Given the description of an element on the screen output the (x, y) to click on. 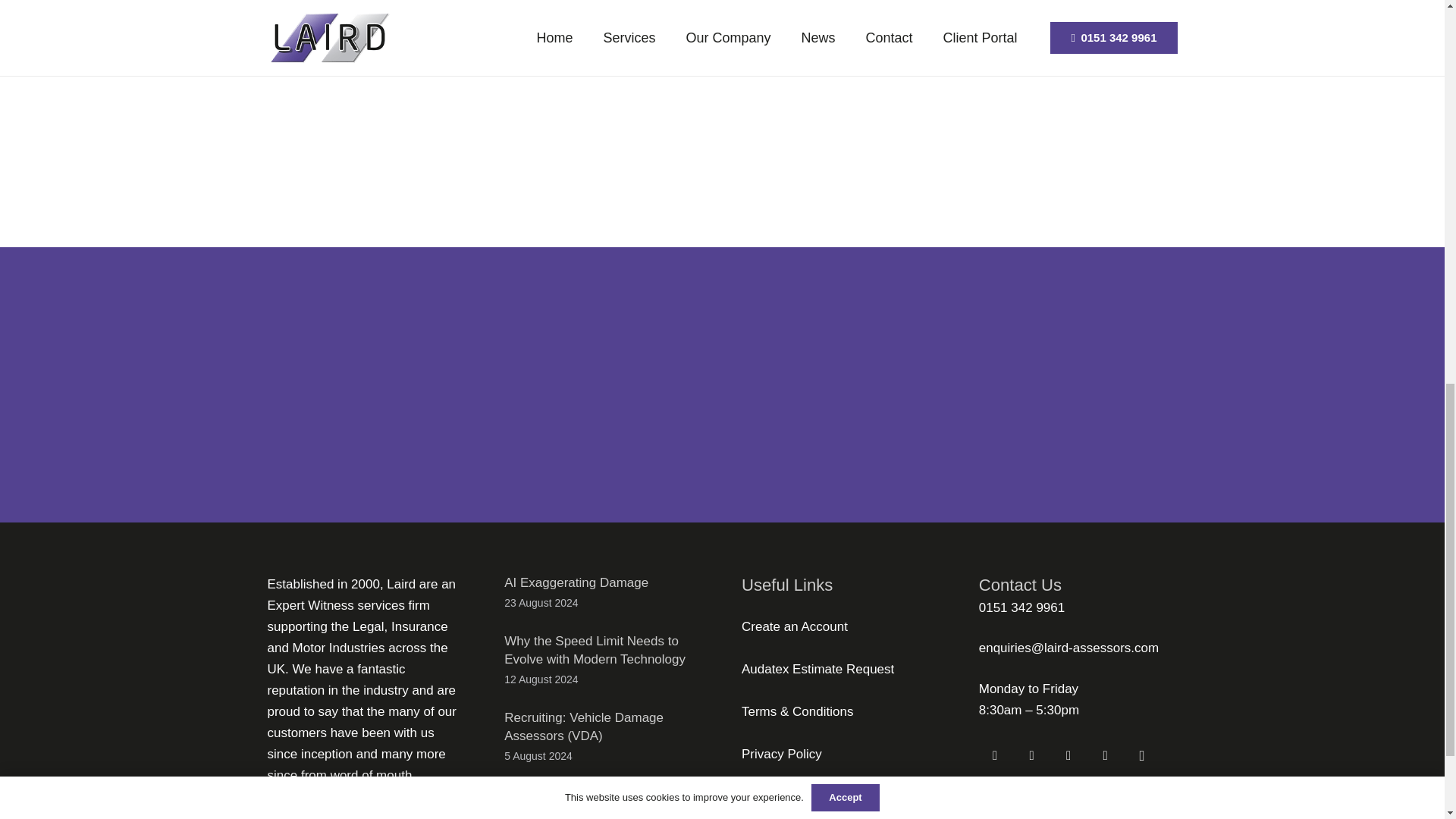
Instagram (1141, 756)
Twitter (1031, 756)
Facebook (994, 756)
LinkedIn (1105, 756)
YouTube (1068, 756)
